Given the description of an element on the screen output the (x, y) to click on. 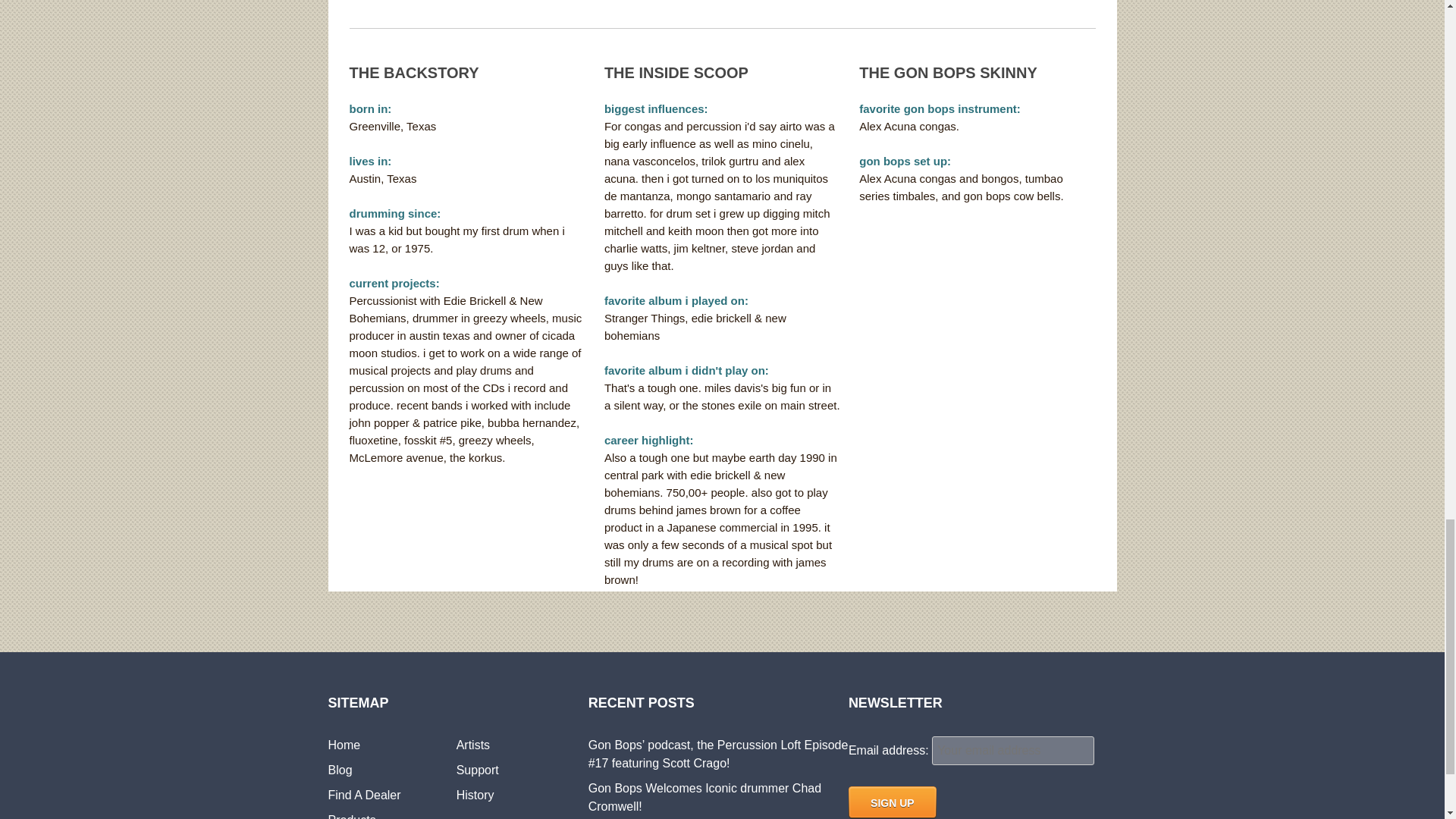
Find A Dealer (363, 794)
History (476, 794)
Home (343, 744)
Sign up (892, 802)
Products (351, 816)
Blog (339, 769)
Support (478, 769)
Gon Bops Welcomes Iconic drummer Chad Cromwell! (704, 797)
Artists (473, 744)
